Given the description of an element on the screen output the (x, y) to click on. 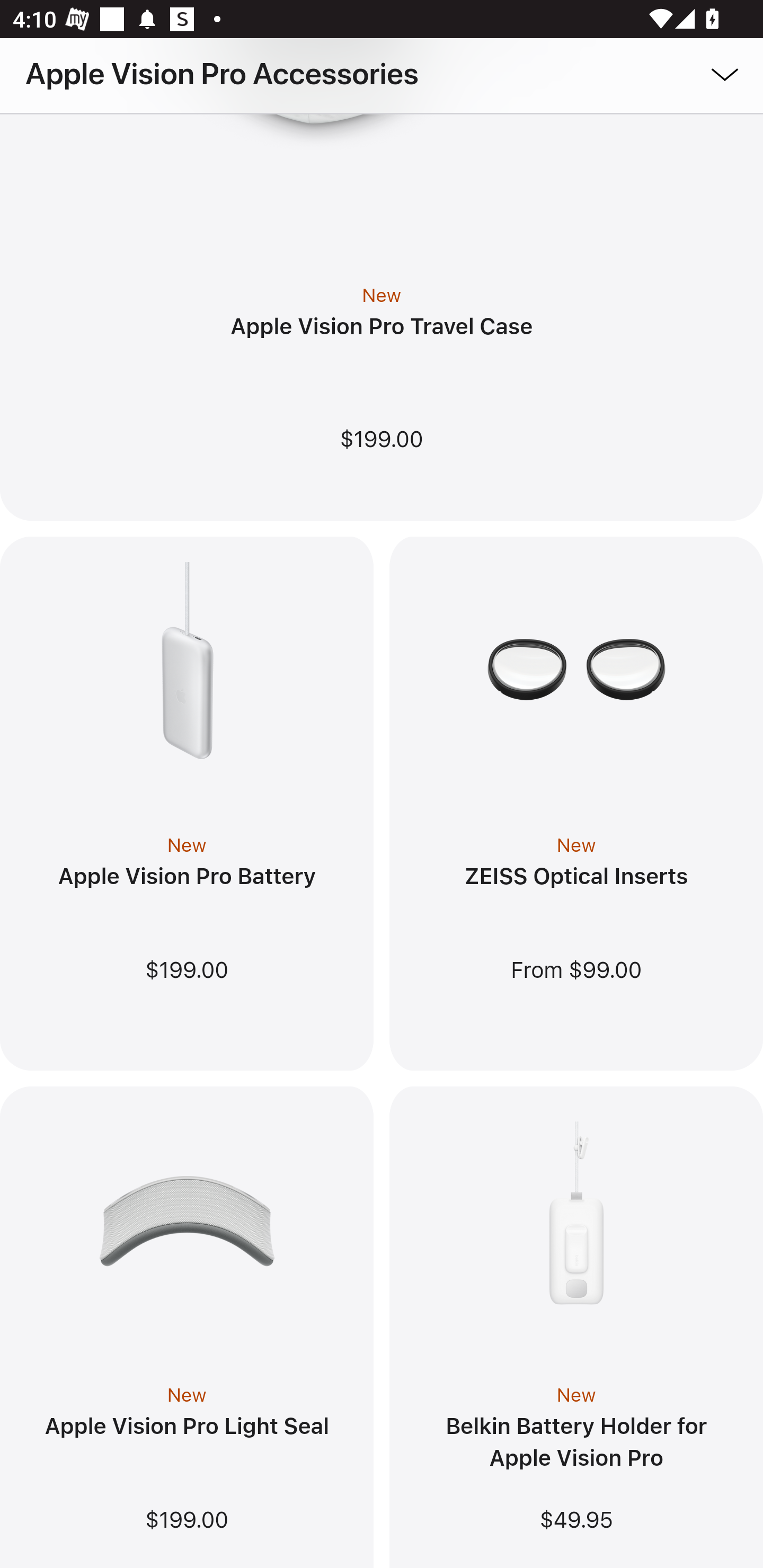
Browse all (699, 72)
Apple Vision Pro Travel Case (381, 328)
Apple Vision Pro Battery (186, 877)
ZEISS Optical Inserts (575, 877)
Apple Vision Pro Light Seal (186, 1427)
Belkin Battery Holder for Apple Vision Pro (576, 1444)
